Given the description of an element on the screen output the (x, y) to click on. 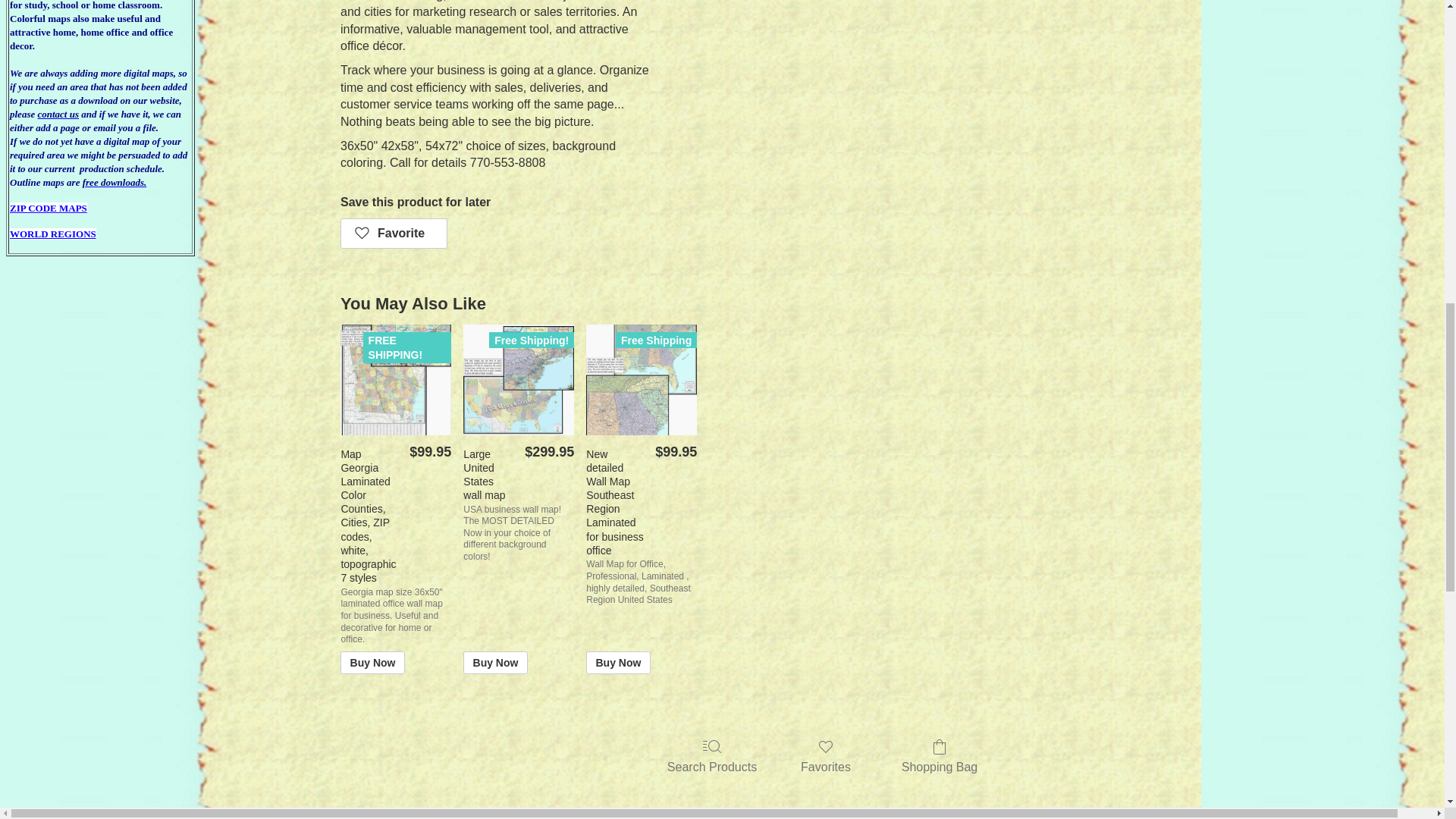
ZIP CODE MAPS (48, 207)
Large United States wall map (518, 379)
Large United States wall map (518, 379)
free downloads. (114, 182)
WORLD REGIONS (53, 233)
contact us (57, 113)
